Given the description of an element on the screen output the (x, y) to click on. 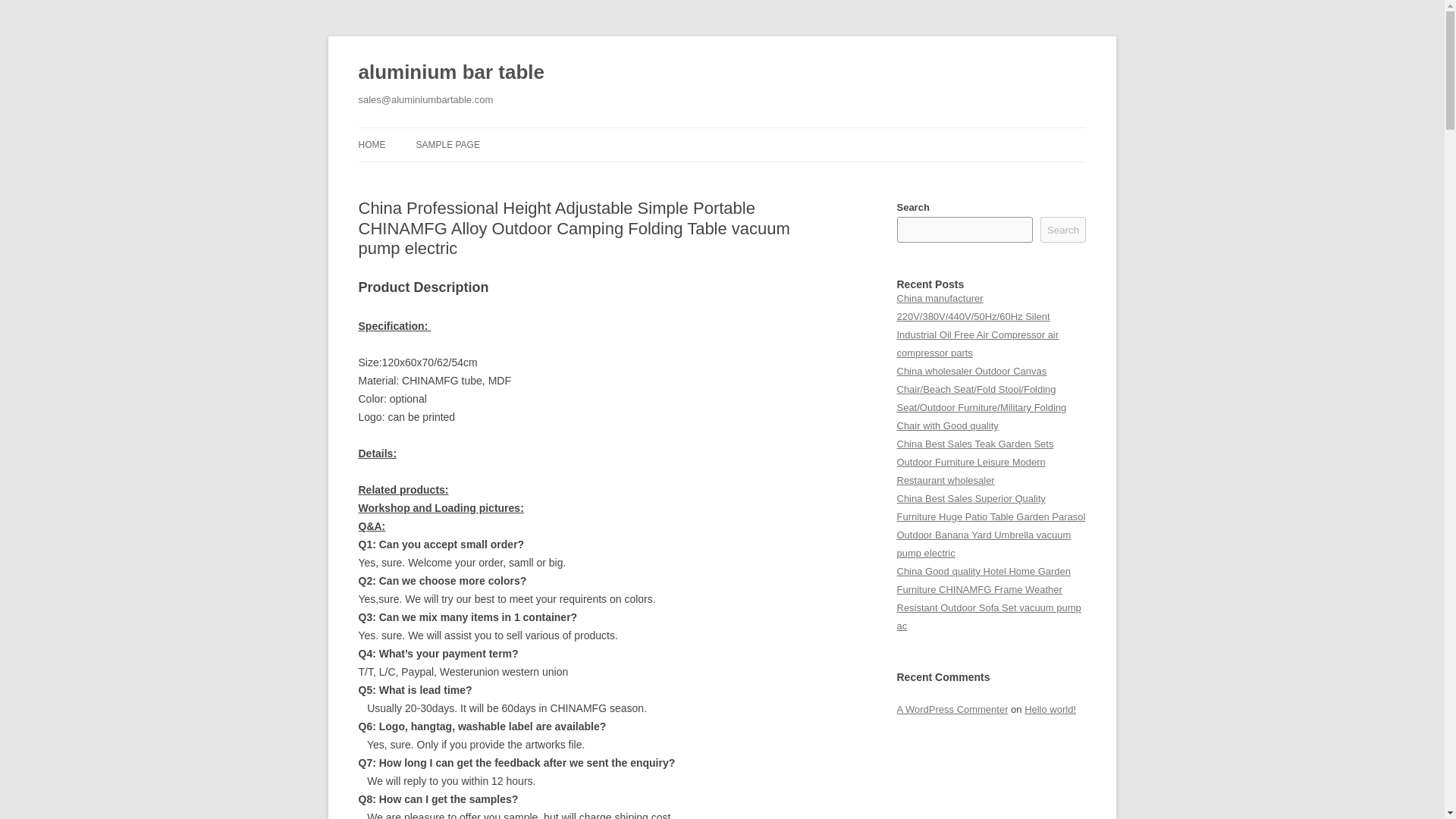
A WordPress Commenter (951, 708)
HOME (371, 144)
aluminium bar table (450, 72)
Hello world! (1050, 708)
SAMPLE PAGE (446, 144)
Search (1063, 229)
